Given the description of an element on the screen output the (x, y) to click on. 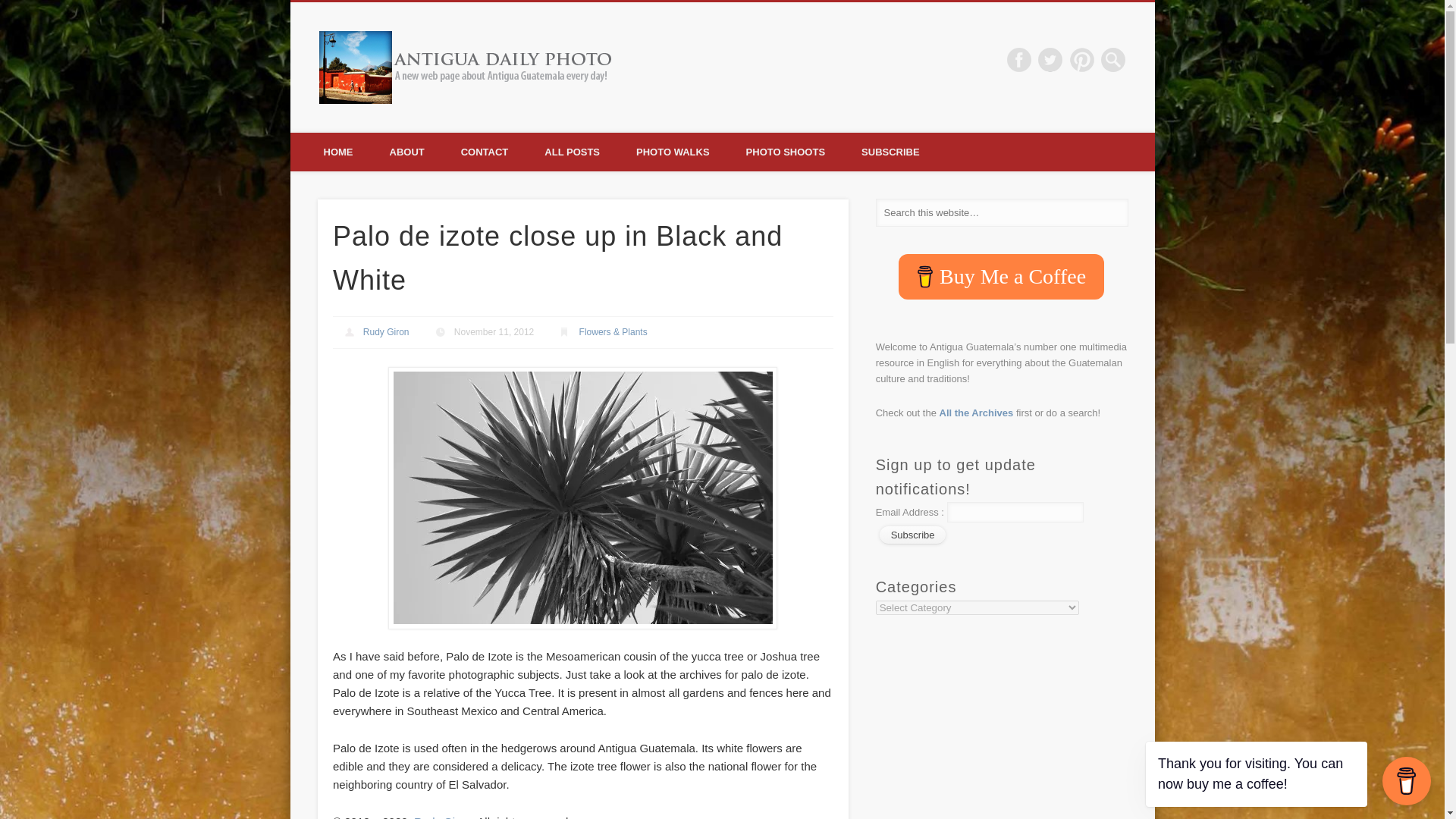
Rudy Giron (442, 816)
HOME (337, 151)
Subscribe (912, 535)
Buy Me a Coffee (1000, 276)
CONTACT (484, 151)
SUBSCRIBE (890, 151)
Posts by Rudy Giron (385, 331)
PHOTO SHOOTS (786, 151)
Rudy Giron (385, 331)
Facebook (1018, 59)
